Given the description of an element on the screen output the (x, y) to click on. 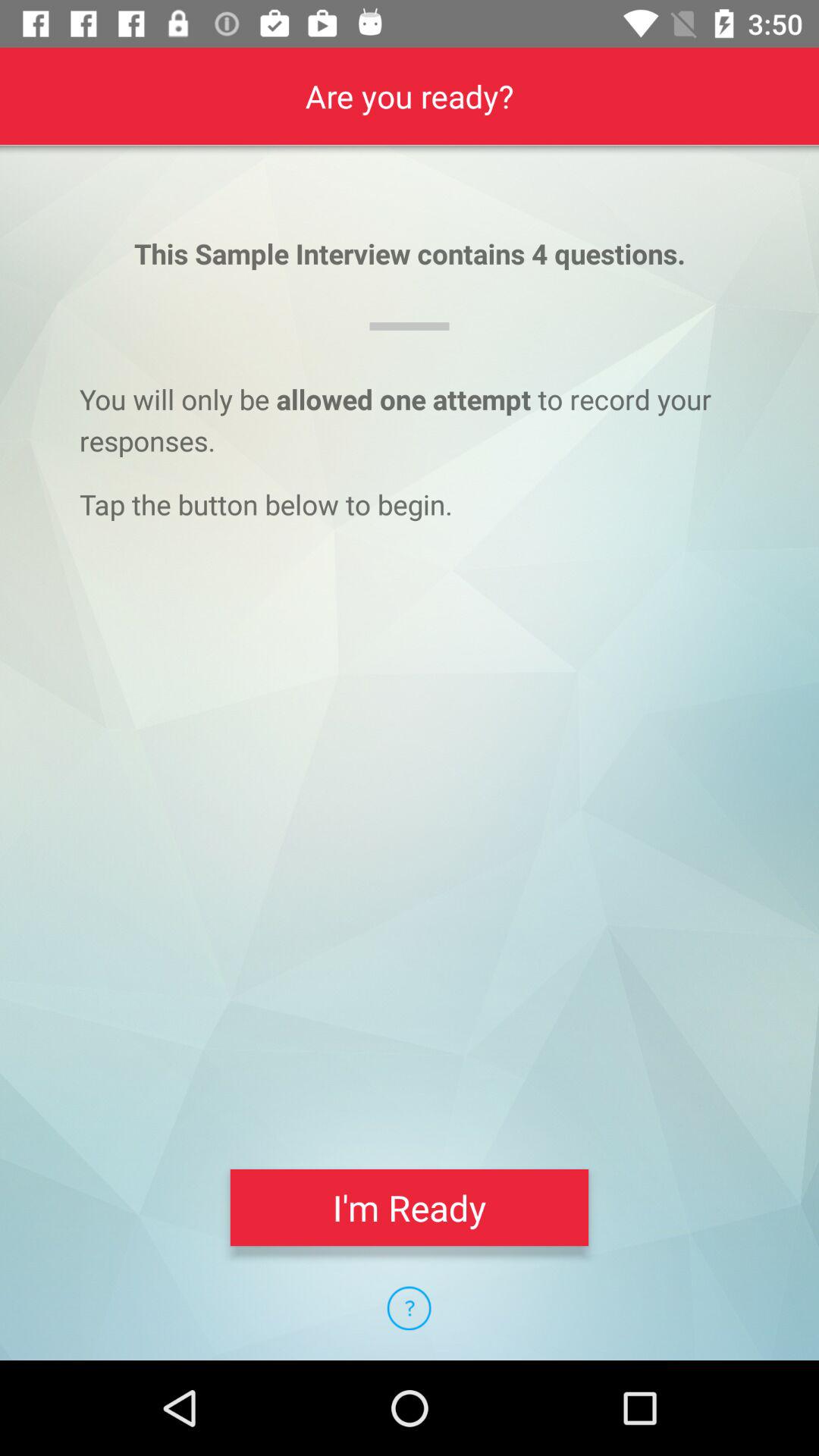
press i'm ready item (409, 1207)
